Given the description of an element on the screen output the (x, y) to click on. 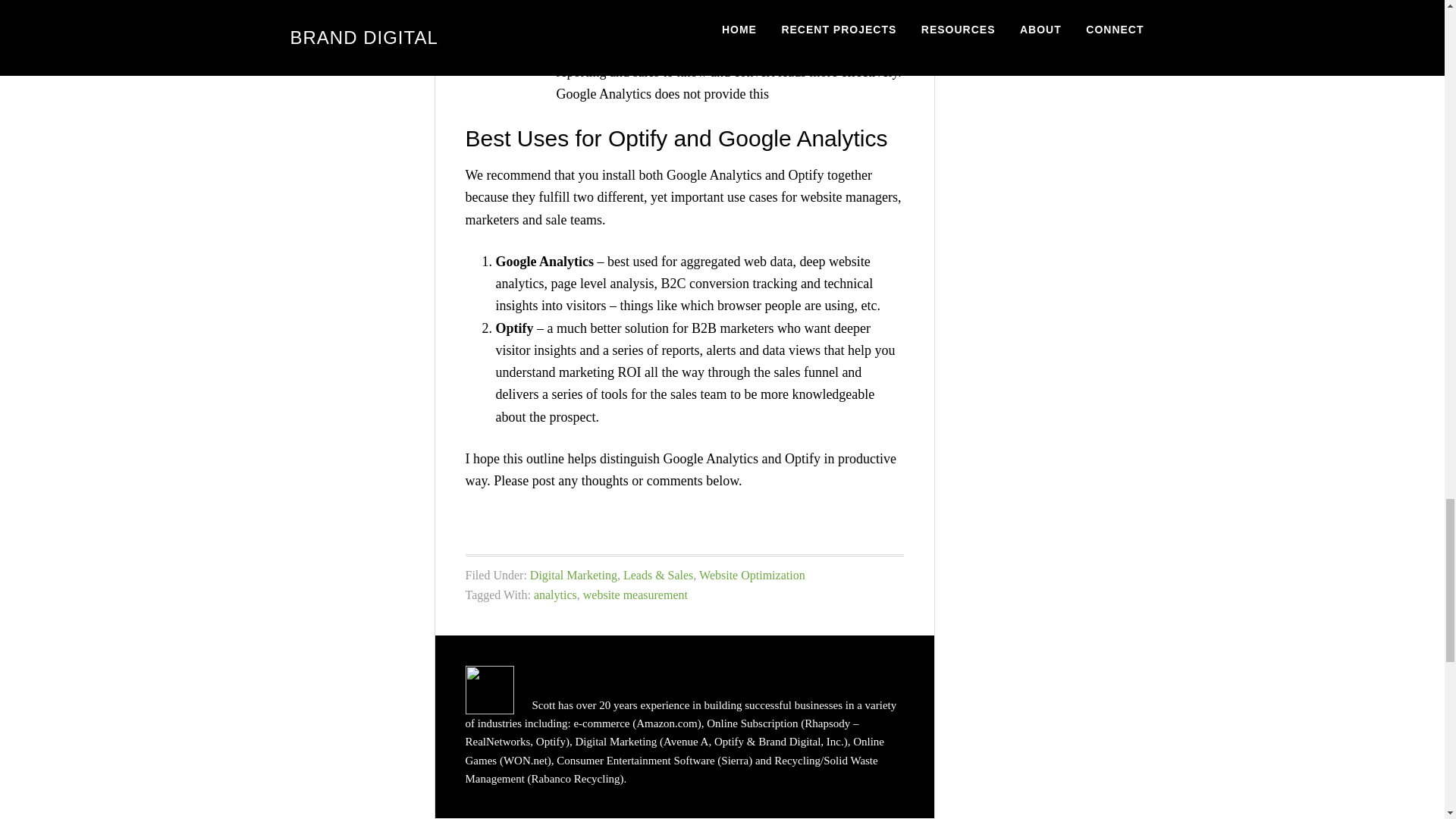
analytics (555, 594)
website measurement (635, 594)
Website Optimization (751, 574)
Digital Marketing (573, 574)
